Given the description of an element on the screen output the (x, y) to click on. 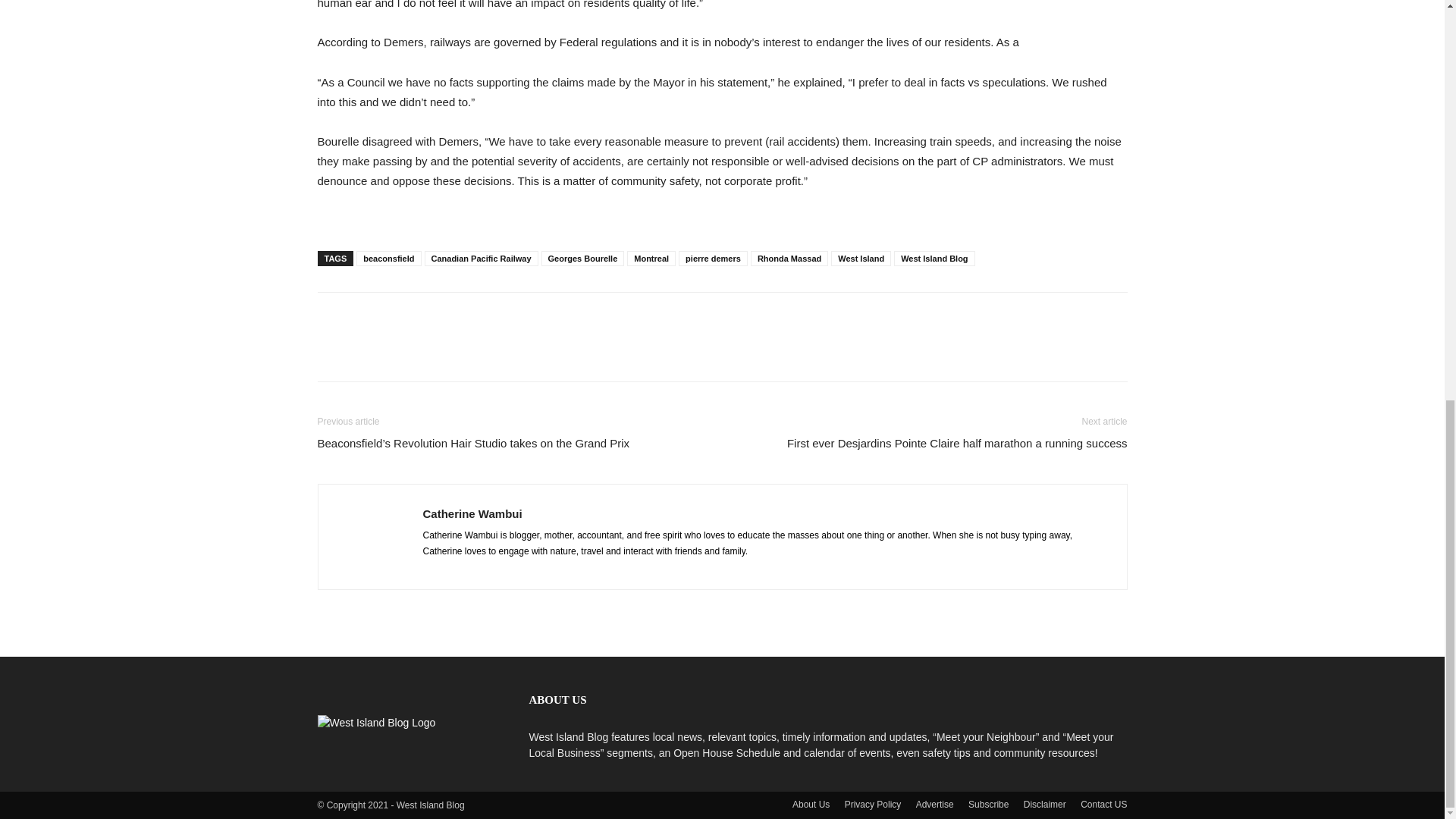
Georges Bourelle (582, 258)
Canadian Pacific Railway (481, 258)
beaconsfield (388, 258)
West Island (861, 258)
pierre demers (713, 258)
Rhonda Massad (789, 258)
Montreal (651, 258)
West Island Blog (933, 258)
